Given the description of an element on the screen output the (x, y) to click on. 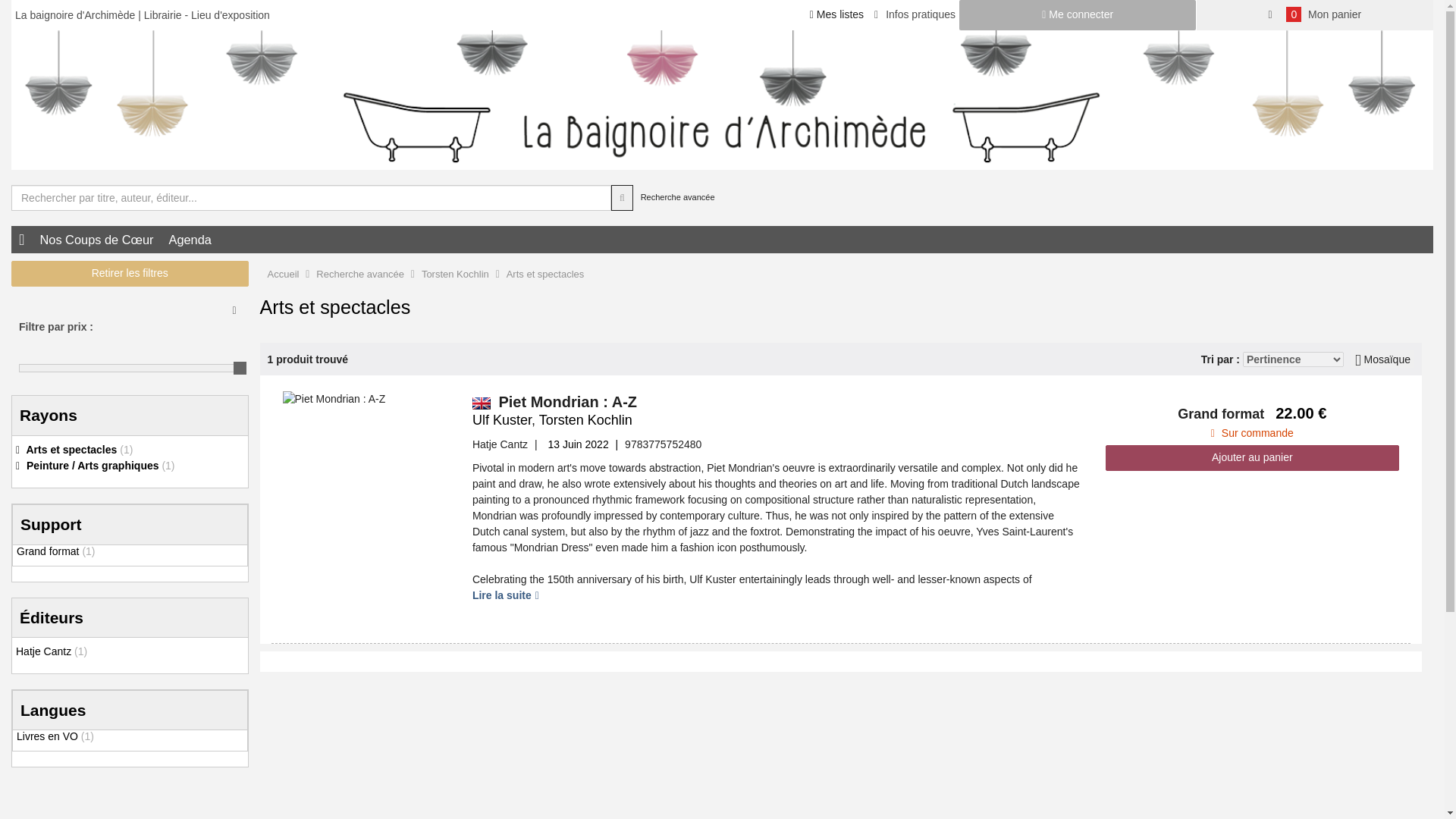
Trier par (1293, 359)
Piet Mondrian : A-Z (333, 399)
Infos pratiques (914, 14)
Anglais (480, 403)
Mes listes (836, 14)
0 Mon panier (1315, 15)
Ulf Kuster, Torsten Kochlin (590, 420)
Agenda (189, 239)
Me connecter (1077, 15)
Grille (1382, 358)
